Given the description of an element on the screen output the (x, y) to click on. 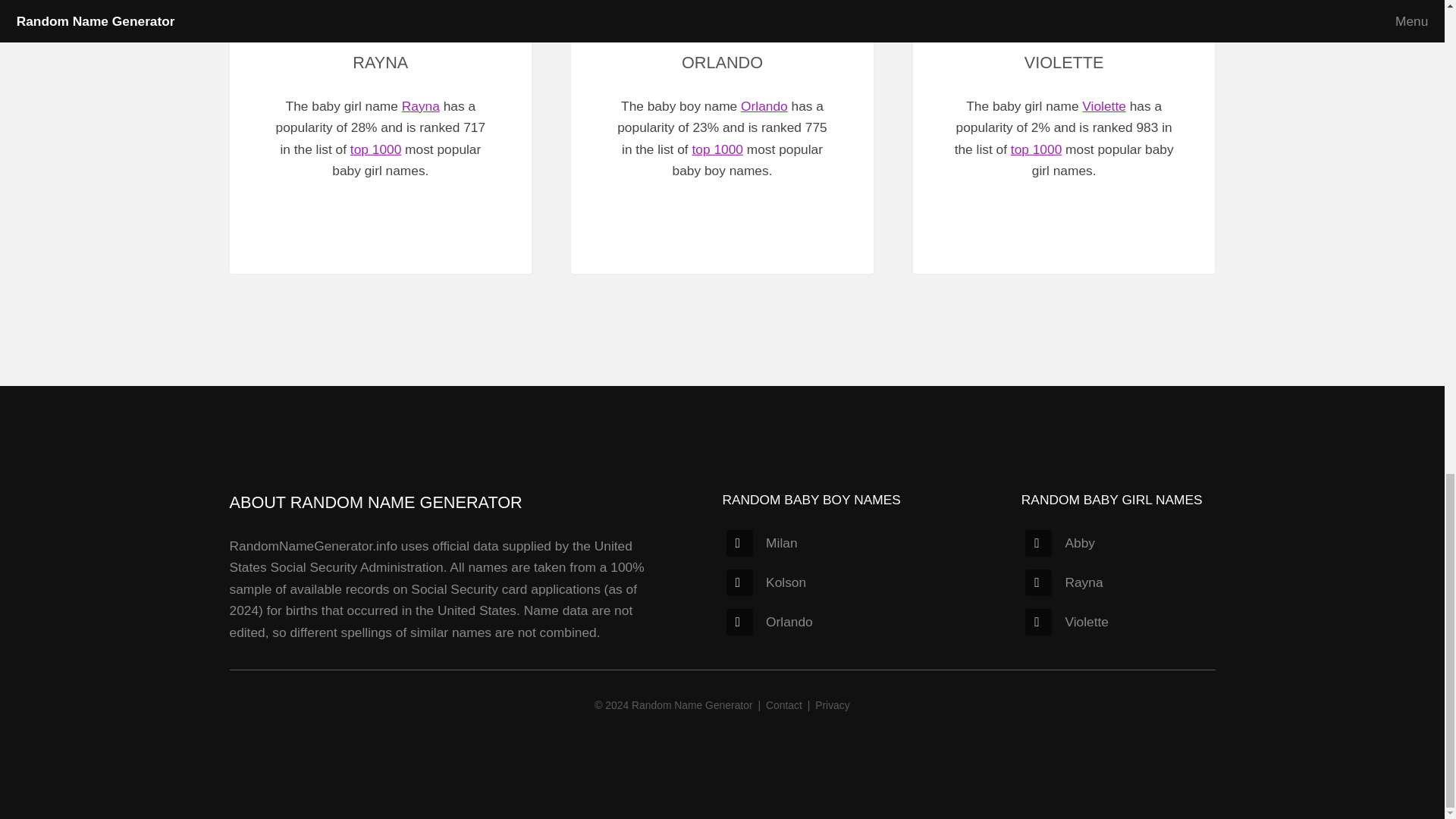
 Violette (1066, 621)
 Rayna (1063, 581)
Contact (783, 705)
Violette (1103, 105)
 Orlando (769, 621)
 Kolson (766, 581)
top 1000 (375, 149)
Random Name Generator (691, 705)
Rayna (420, 105)
top 1000 (716, 149)
 Milan (761, 542)
Orlando (764, 105)
 Abby (1059, 542)
Privacy (831, 705)
top 1000 (1035, 149)
